Given the description of an element on the screen output the (x, y) to click on. 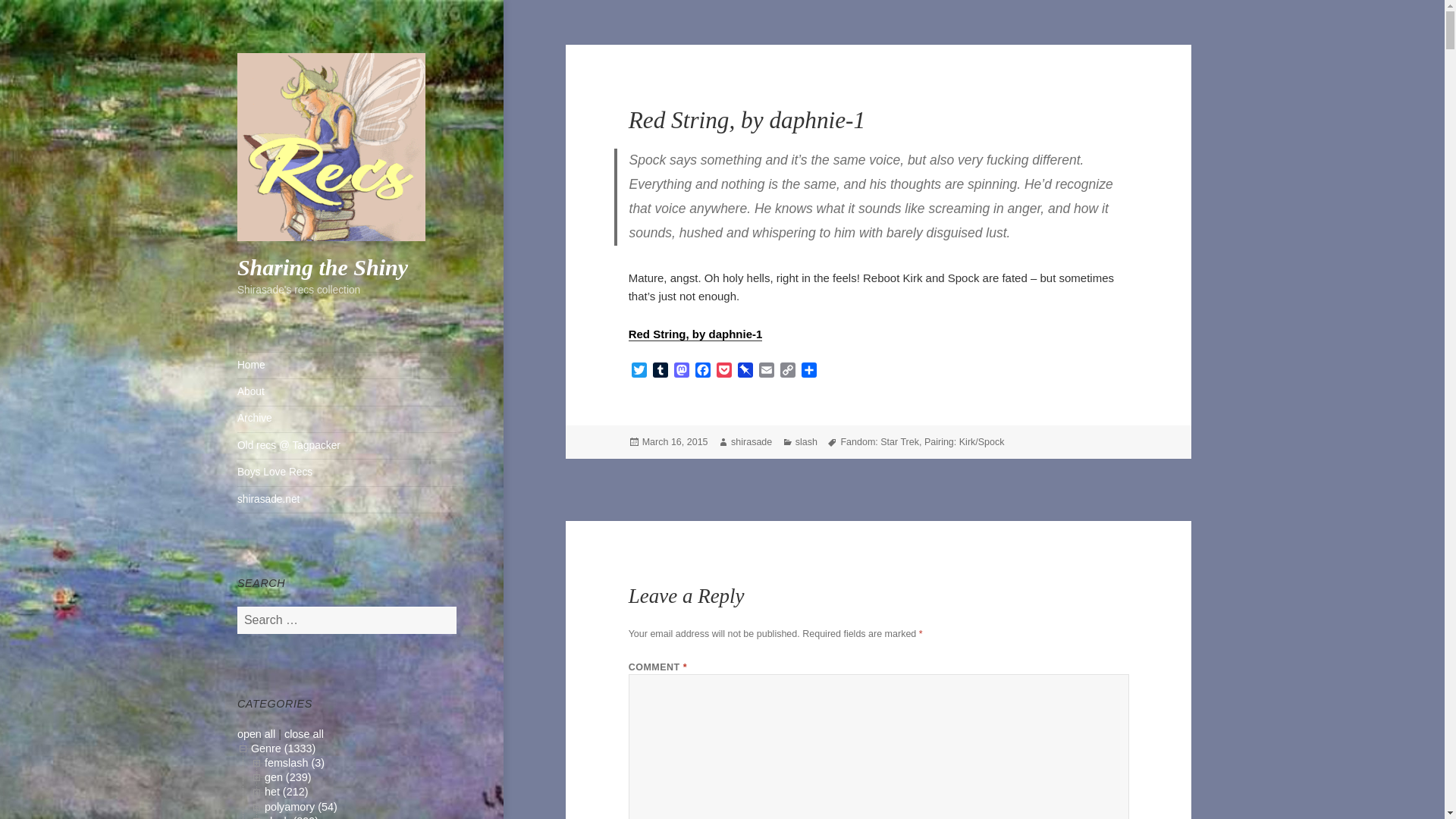
About (347, 391)
close all (303, 734)
close all (303, 734)
open all (256, 734)
shirasade.net (347, 499)
Sharing the Shiny (322, 267)
Archive (347, 419)
open all (256, 734)
Boys Love Recs (347, 472)
Home (347, 365)
